Given the description of an element on the screen output the (x, y) to click on. 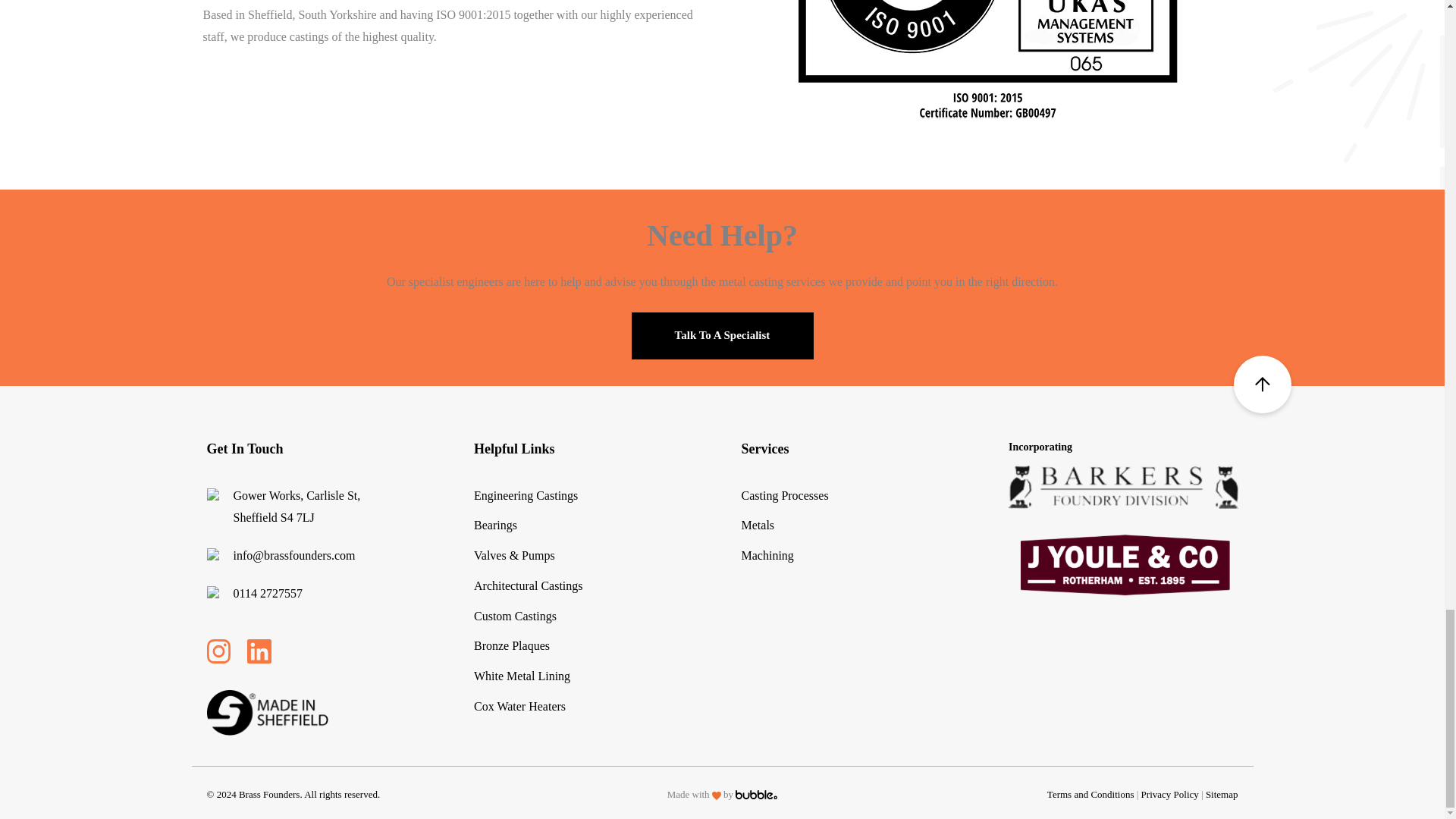
Talk To A Specialist (721, 335)
High Quality British Castings. (986, 60)
